Given the description of an element on the screen output the (x, y) to click on. 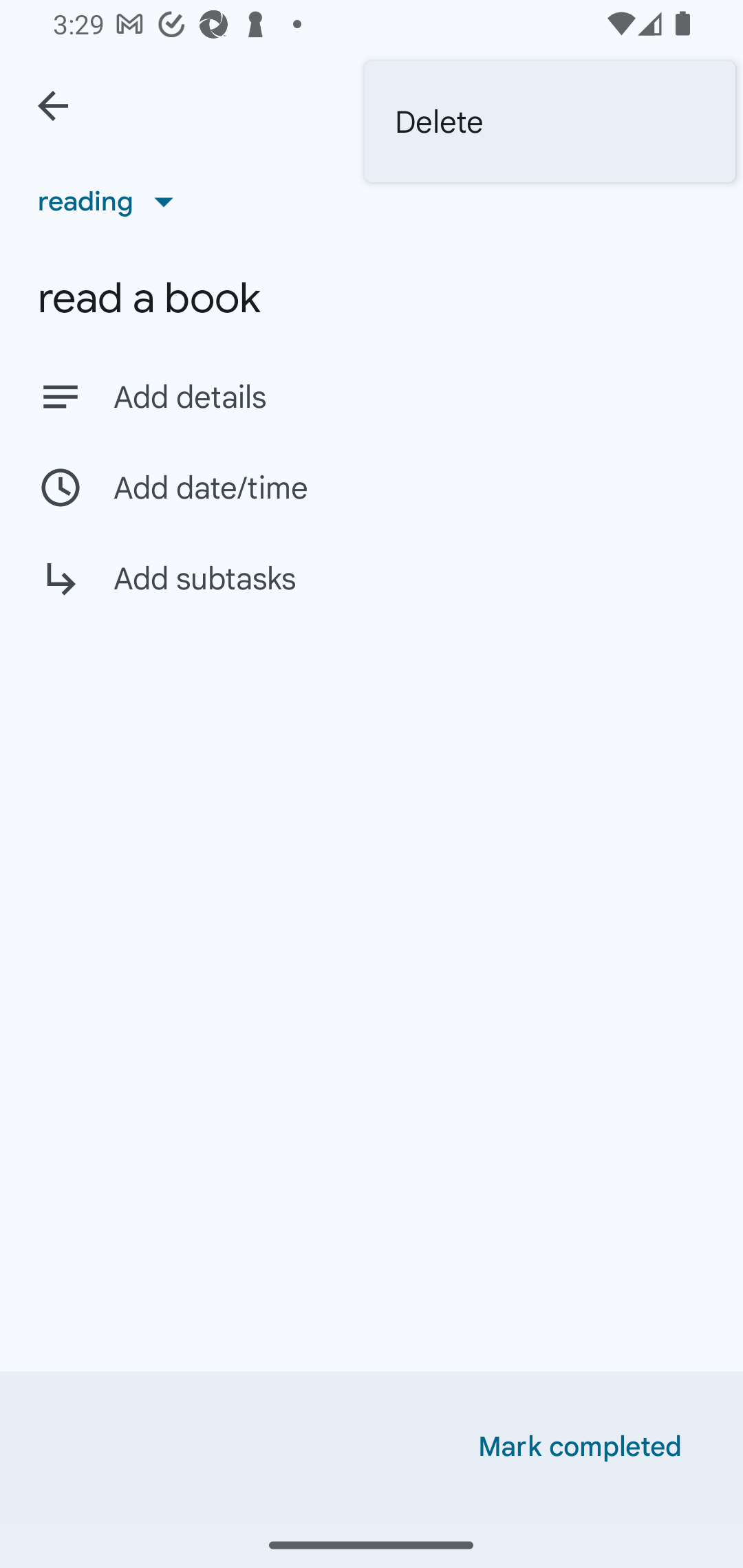
Delete (549, 121)
